Given the description of an element on the screen output the (x, y) to click on. 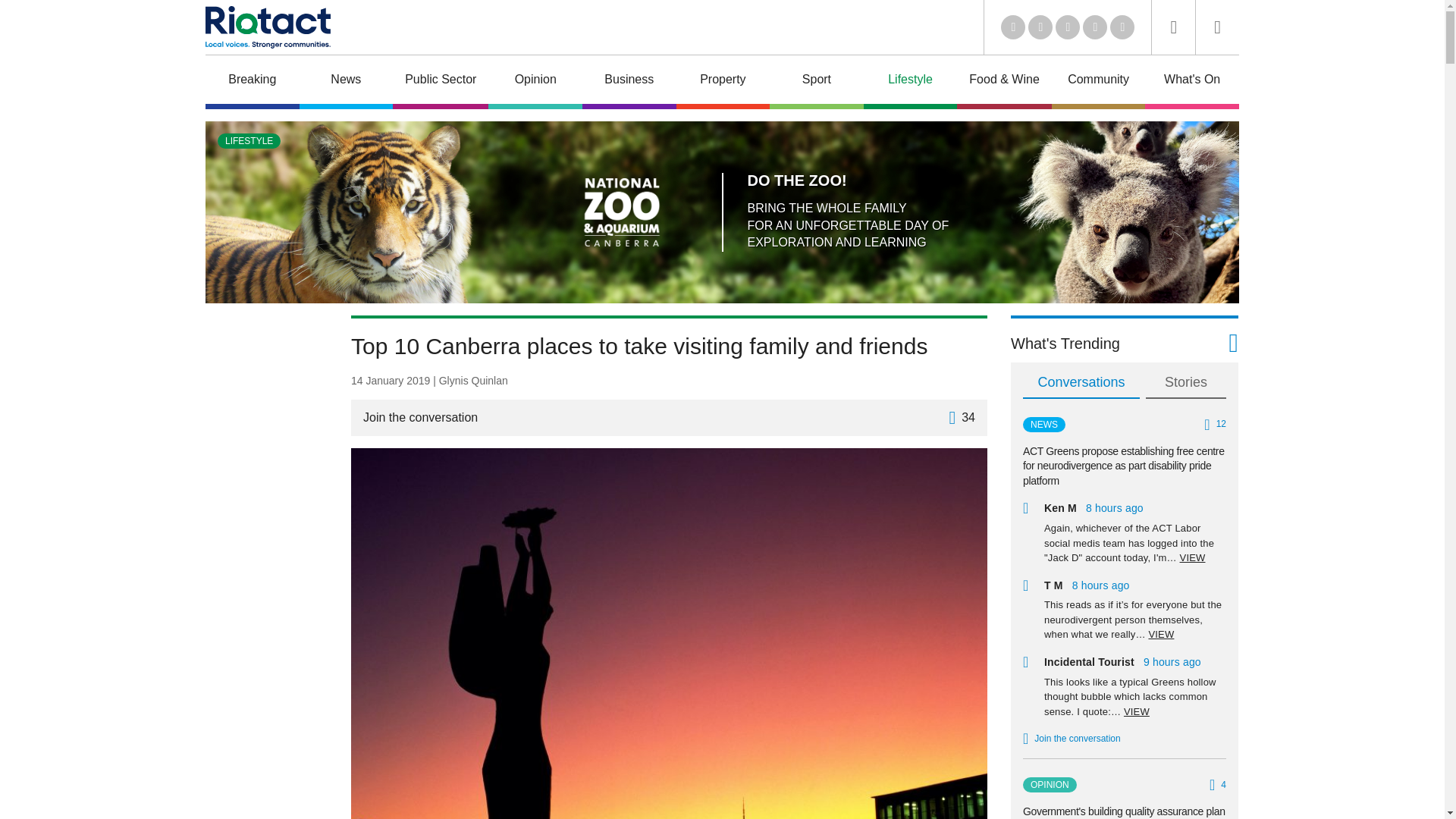
Instagram (1121, 27)
Youtube (1067, 27)
LinkedIn (1013, 27)
Riotact Home (267, 26)
Breaking (252, 81)
Twitter (1039, 27)
Facebook (1094, 27)
News (346, 81)
